Given the description of an element on the screen output the (x, y) to click on. 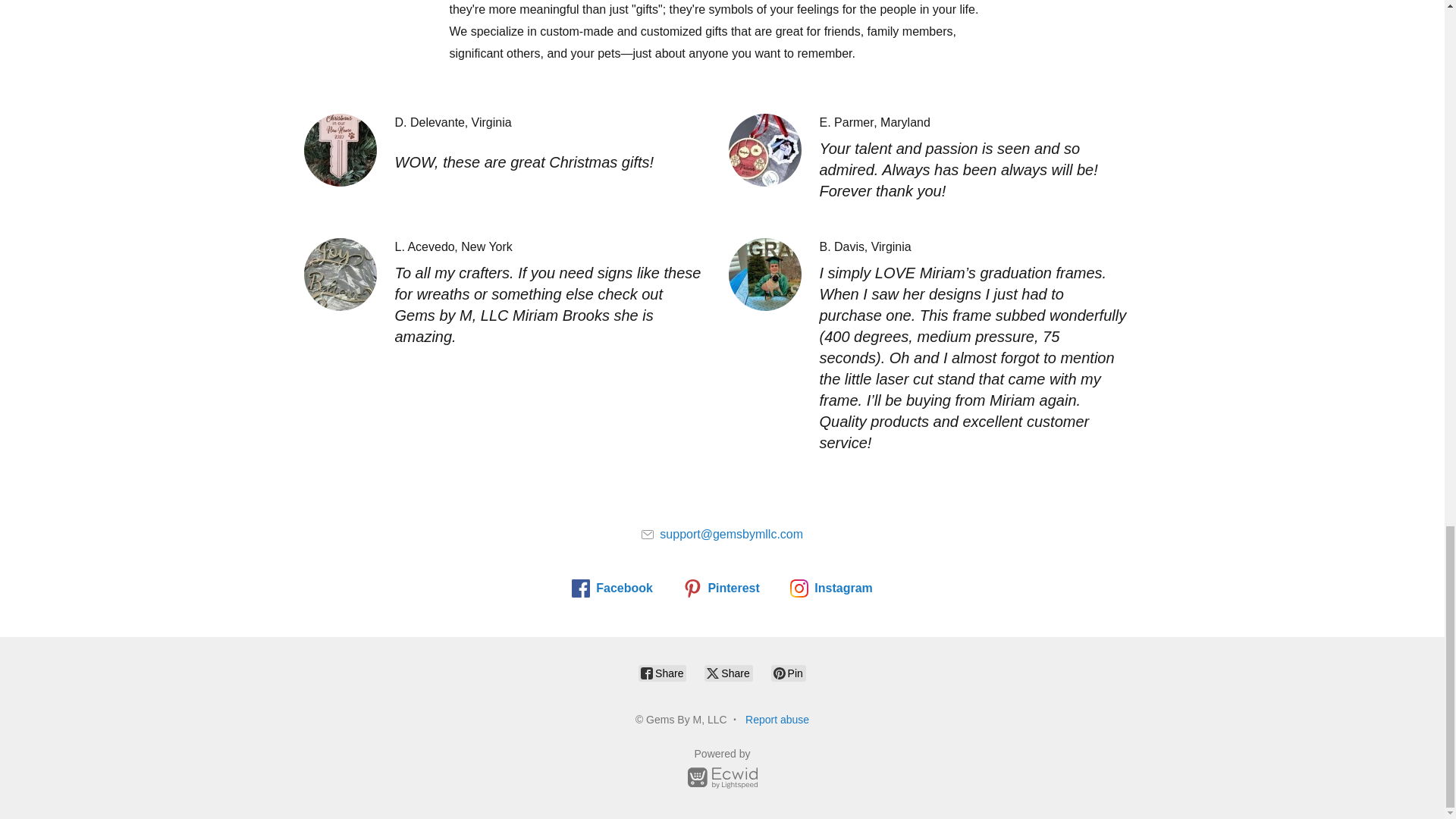
Share (662, 673)
Share (728, 673)
Facebook (612, 588)
Pinterest (720, 588)
Report abuse (777, 719)
Instagram (831, 588)
Powered by (722, 770)
Pin (788, 673)
